Given the description of an element on the screen output the (x, y) to click on. 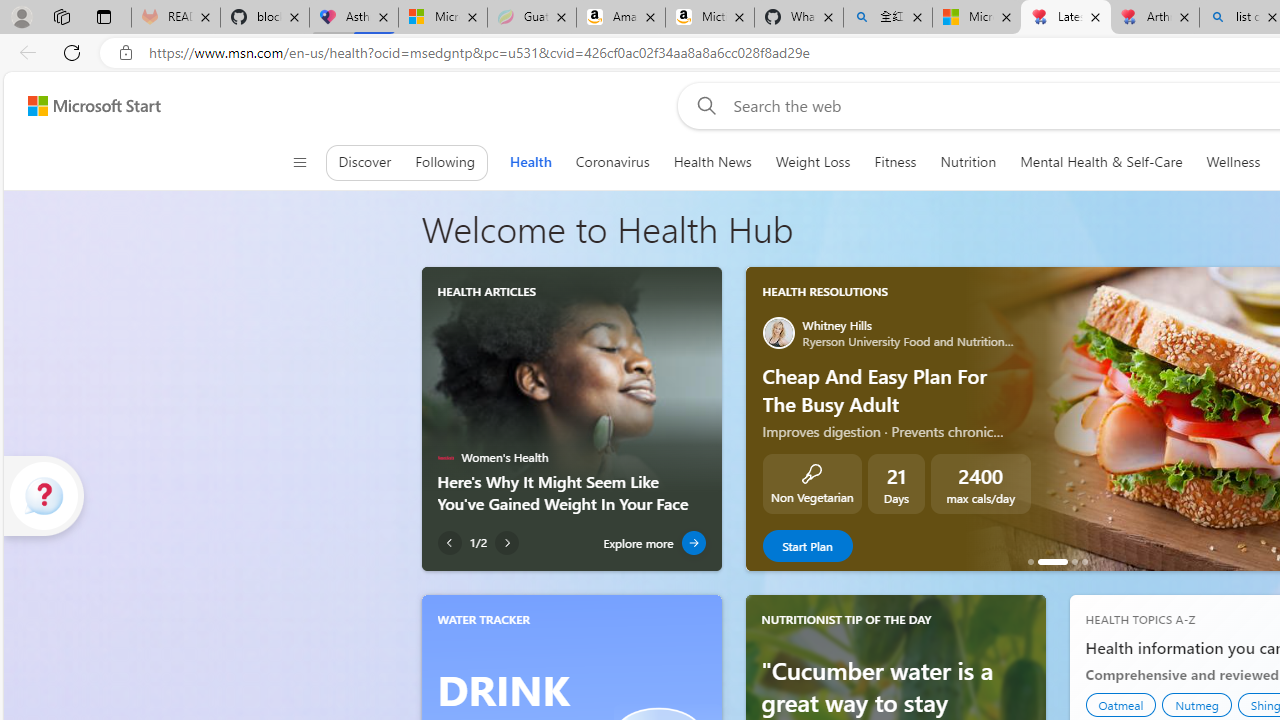
Skip to content (86, 105)
Health News (712, 162)
